Given the description of an element on the screen output the (x, y) to click on. 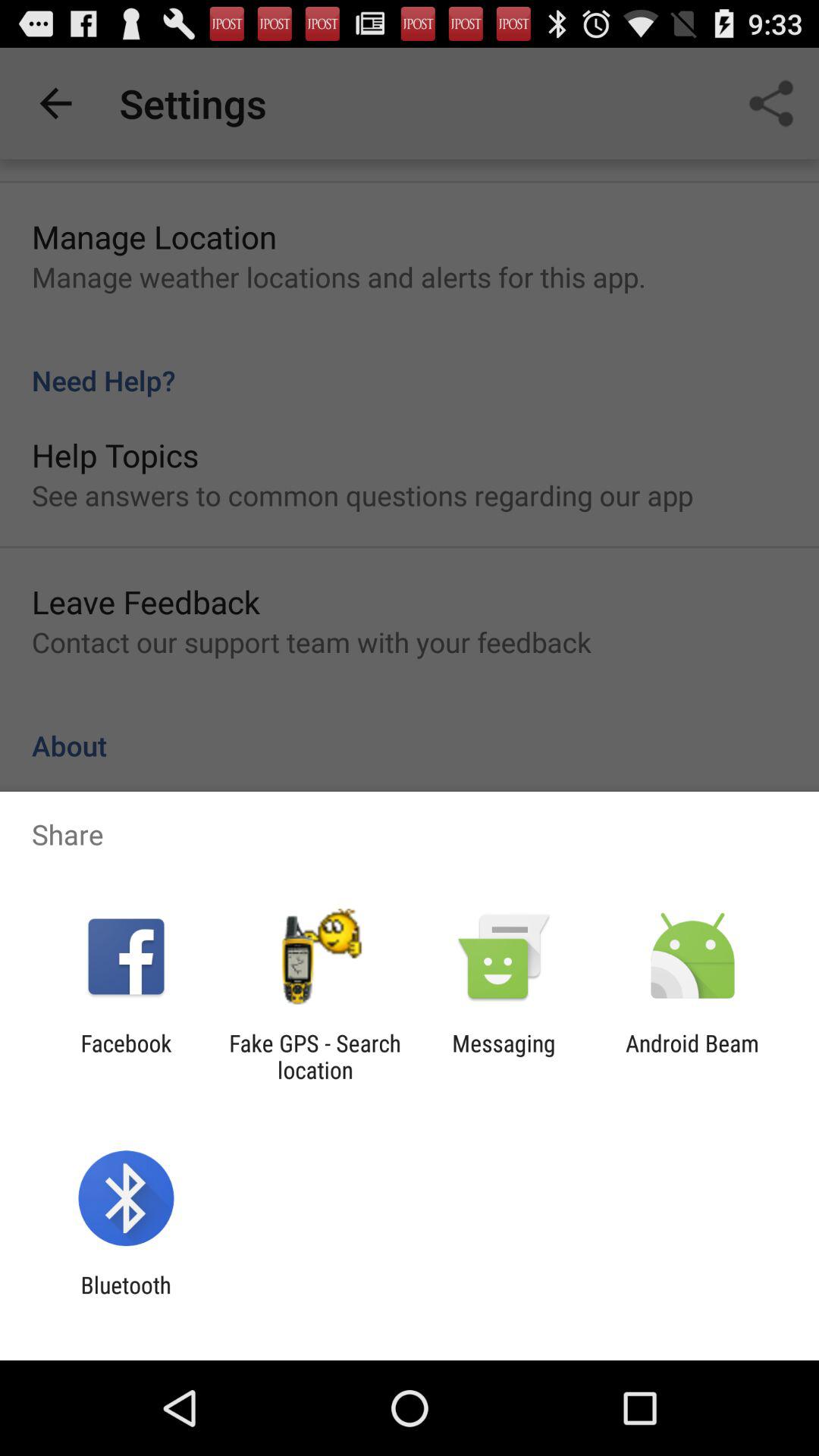
open app to the left of the messaging item (314, 1056)
